Given the description of an element on the screen output the (x, y) to click on. 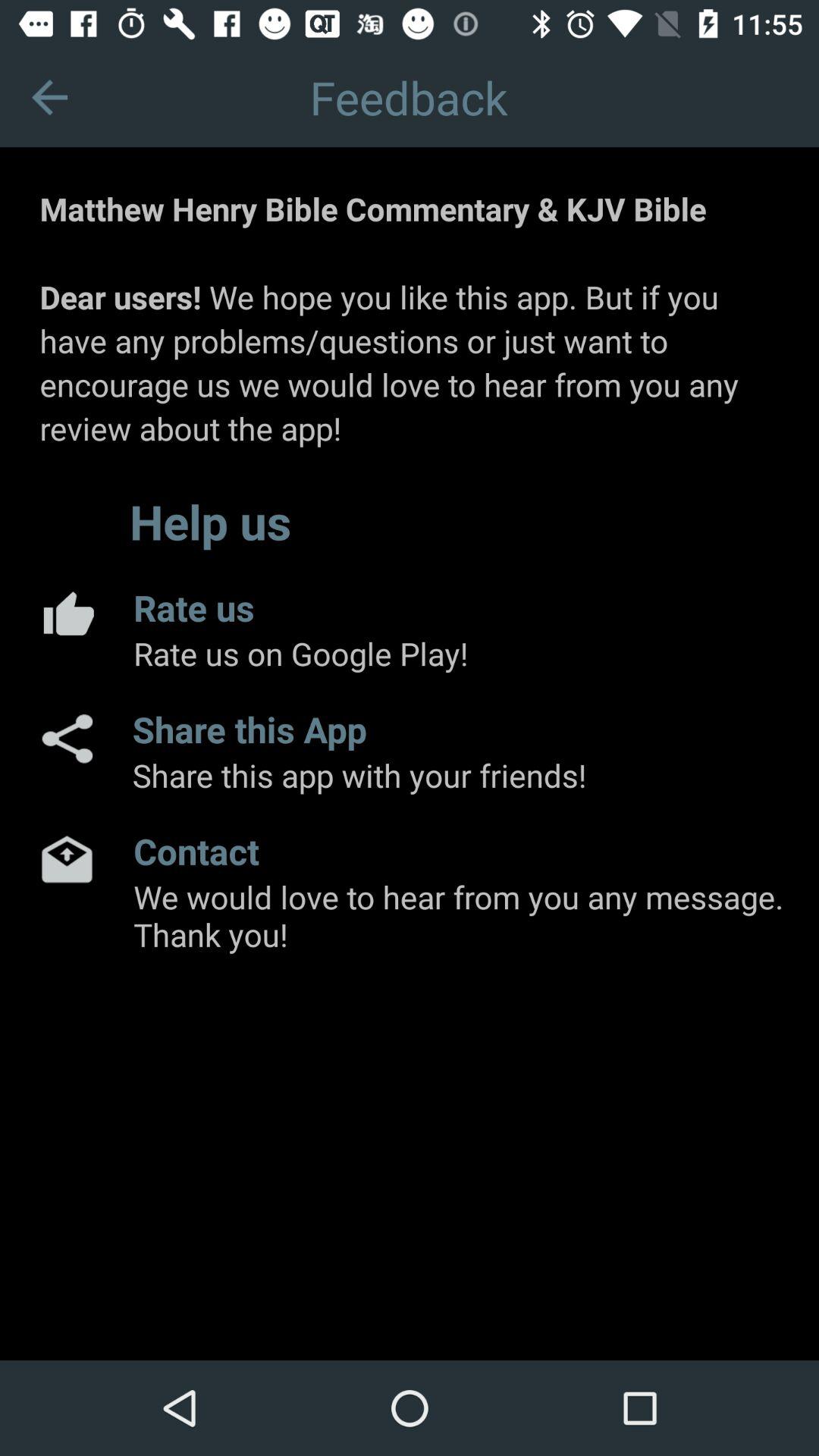
create email (66, 858)
